Given the description of an element on the screen output the (x, y) to click on. 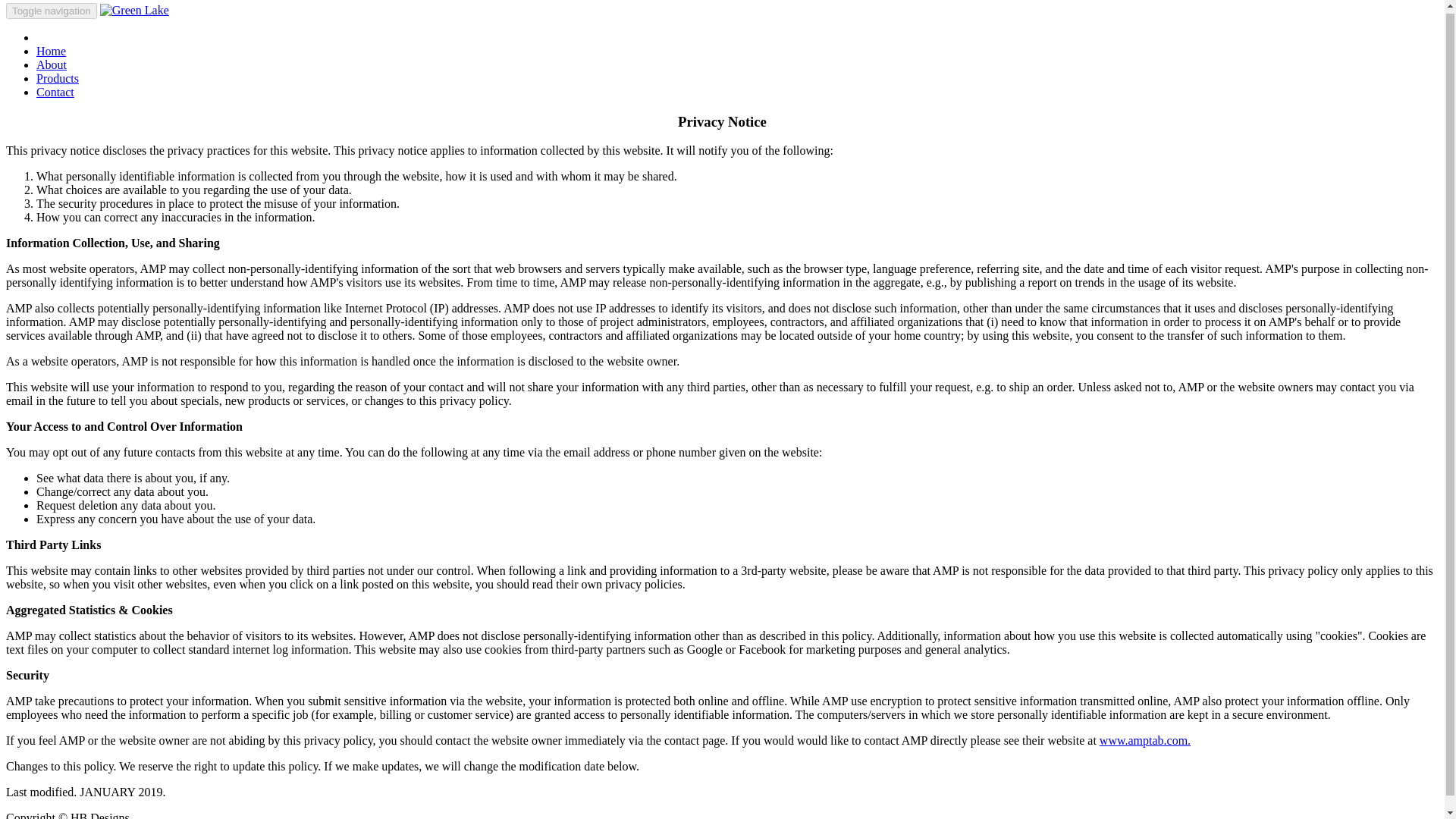
Home (50, 51)
www.amptab.com. (1145, 739)
Contact (55, 91)
Home (50, 51)
About (51, 64)
Contact (55, 91)
Products (57, 78)
About (51, 64)
Products (57, 78)
Toggle navigation (51, 10)
